Given the description of an element on the screen output the (x, y) to click on. 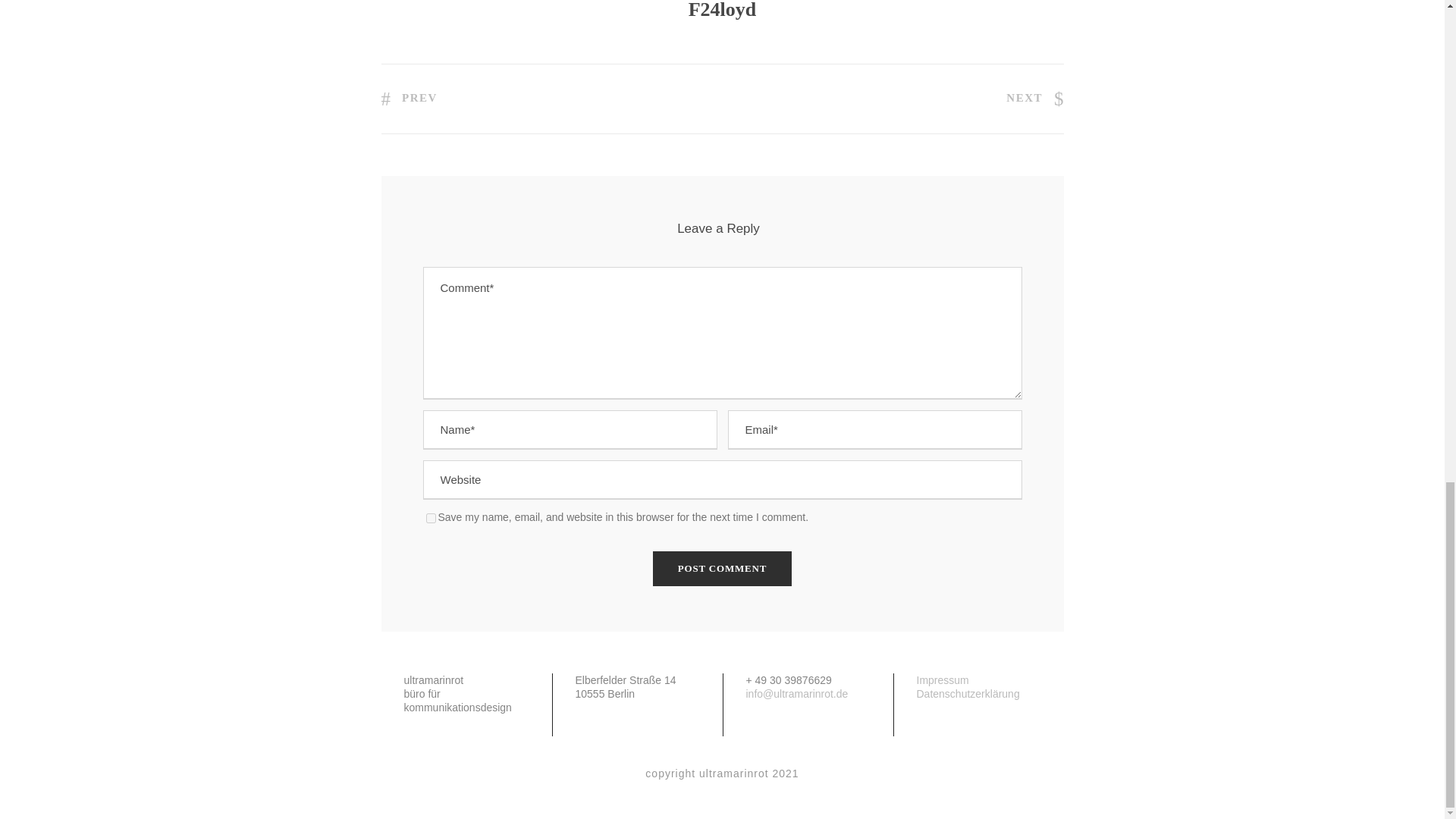
Post Comment (722, 568)
yes (430, 518)
F24loyd (722, 10)
PREV (408, 97)
NEXT (1034, 97)
Impressum (941, 680)
Post Comment (722, 568)
